Given the description of an element on the screen output the (x, y) to click on. 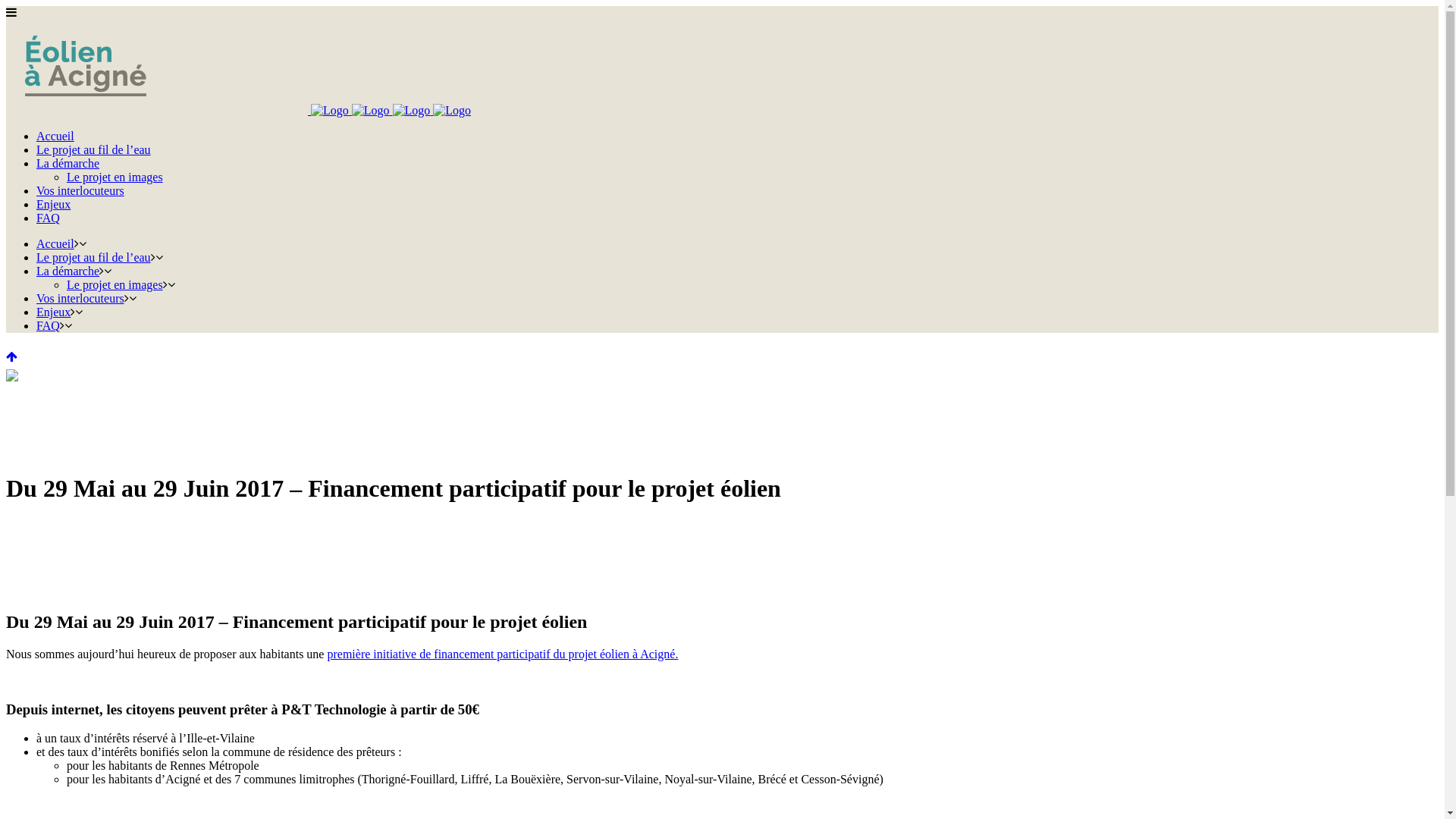
FAQ Element type: text (47, 217)
Le projet en images Element type: text (114, 176)
Accueil Element type: text (55, 243)
Vos interlocuteurs Element type: text (80, 190)
Le projet en images Element type: text (114, 284)
Enjeux Element type: text (53, 311)
Enjeux Element type: text (53, 203)
Accueil Element type: text (55, 135)
Vos interlocuteurs Element type: text (80, 297)
FAQ Element type: text (47, 325)
